Given the description of an element on the screen output the (x, y) to click on. 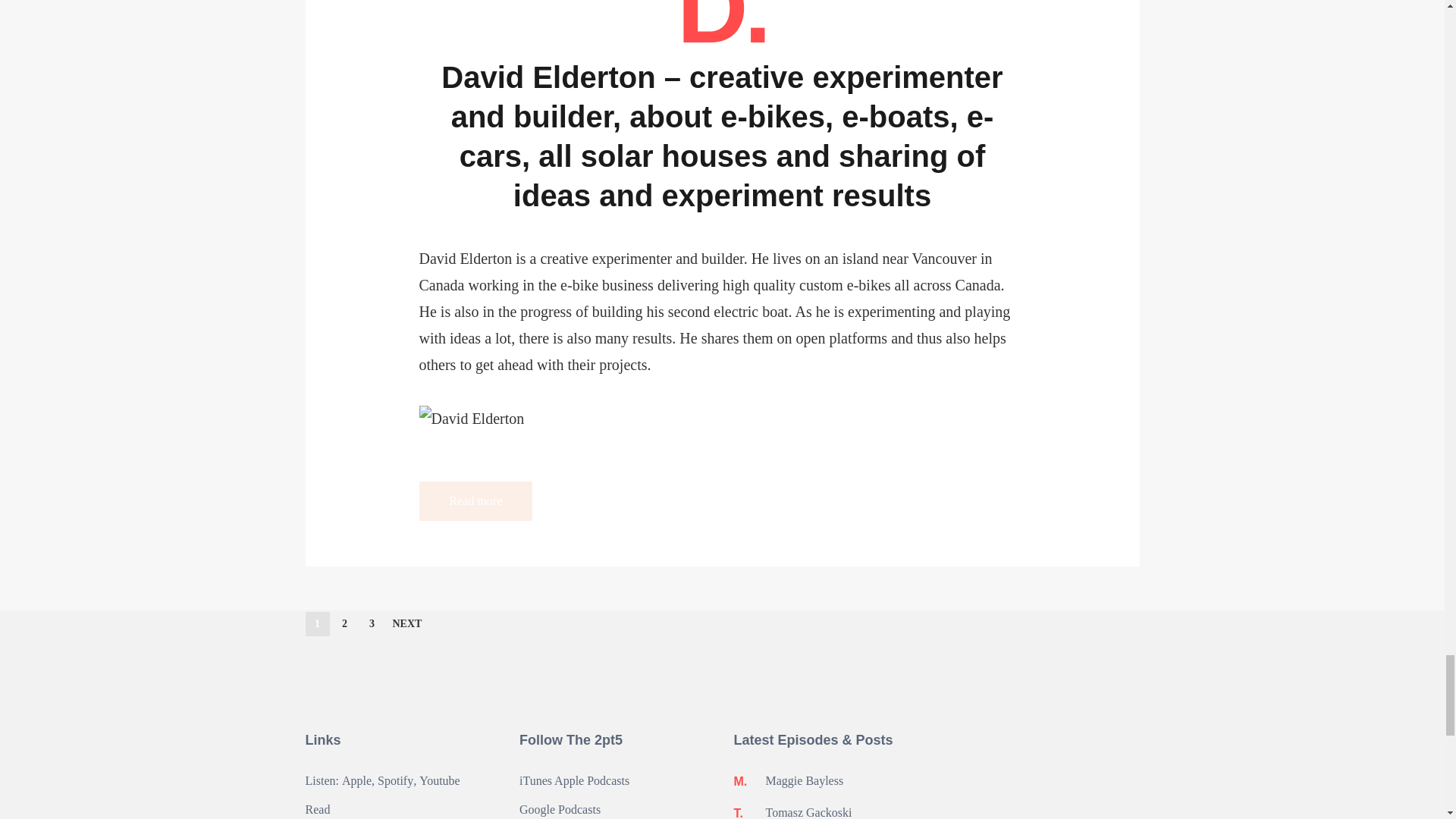
Read more (475, 500)
Read (317, 809)
Apple (356, 781)
NEXT (407, 624)
Youtube (439, 781)
2 (343, 623)
Spotify (395, 781)
3 (371, 623)
